Given the description of an element on the screen output the (x, y) to click on. 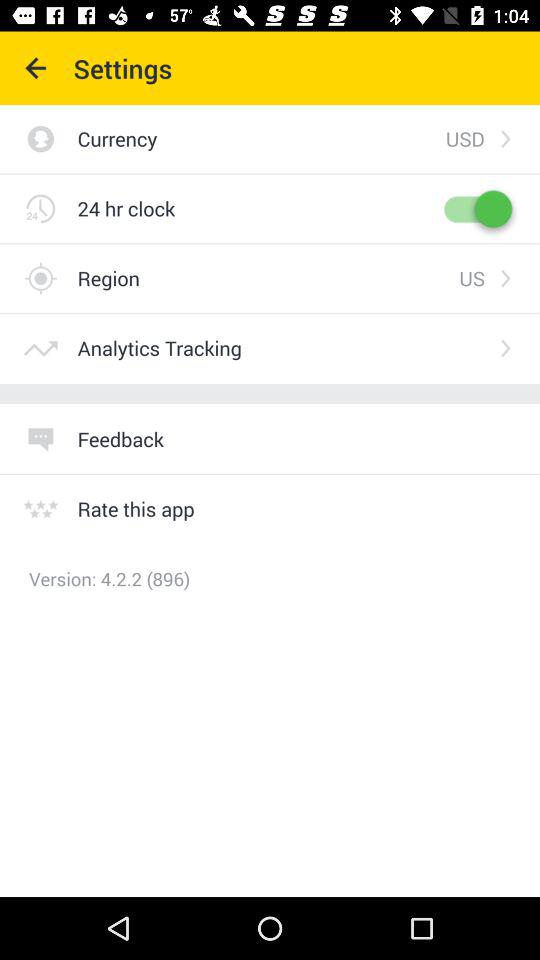
click region icon (268, 278)
